Given the description of an element on the screen output the (x, y) to click on. 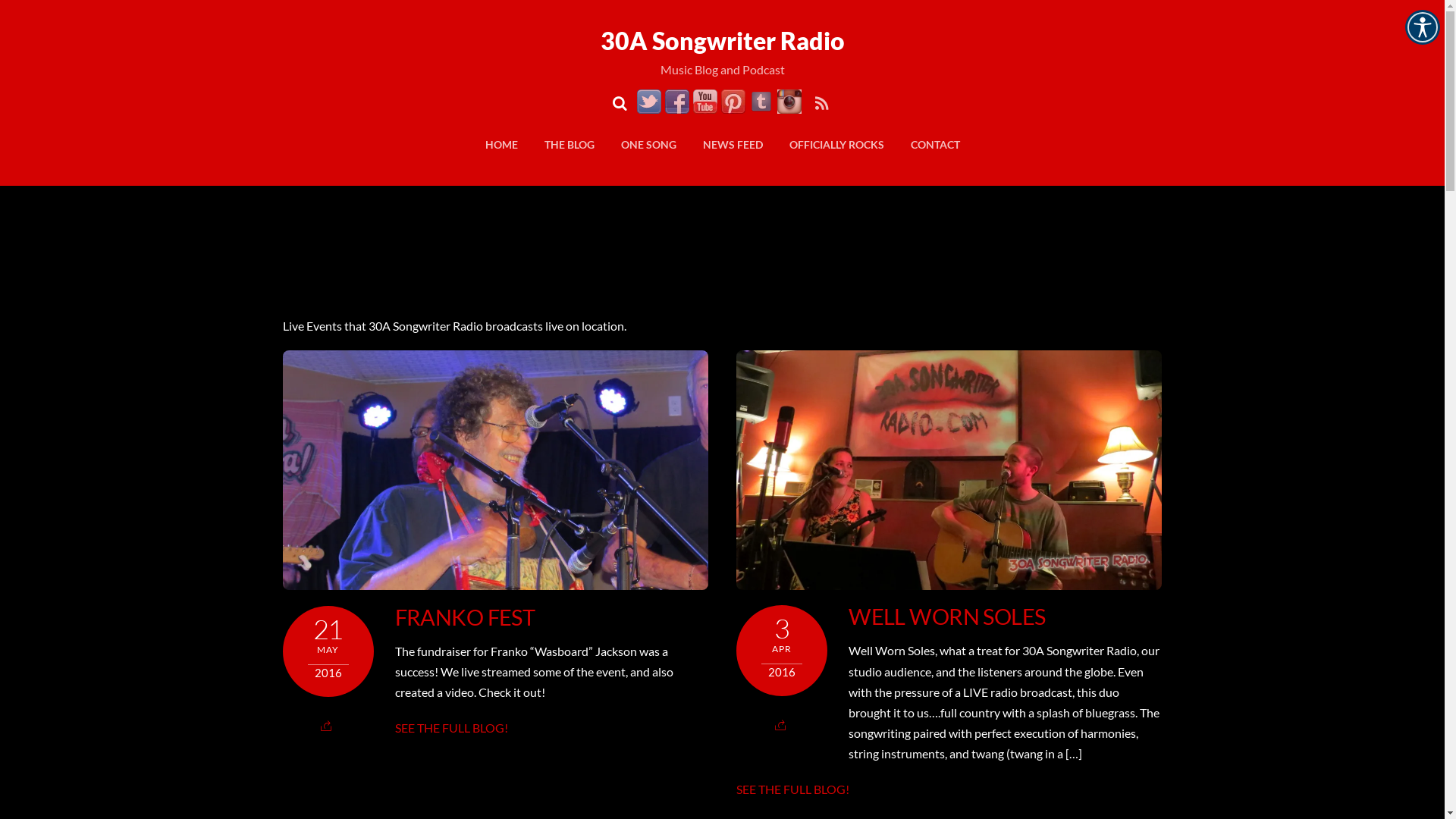
Well Worn Soles Element type: hover (948, 469)
NEWS FEED Element type: text (732, 144)
ONE SONG Element type: text (647, 144)
FRANKO FEST Element type: text (465, 617)
HOME Element type: text (501, 144)
Franko Fest Element type: hover (494, 469)
RSS Element type: text (820, 102)
SEE THE FULL BLOG! Element type: text (451, 727)
THE BLOG Element type: text (569, 144)
OFFICIALLY ROCKS Element type: text (835, 144)
Search Element type: hover (623, 102)
SEE THE FULL BLOG! Element type: text (792, 788)
30A Songwriter Radio Element type: text (722, 40)
WELL WORN SOLES Element type: text (946, 616)
CONTACT Element type: text (934, 144)
